Given the description of an element on the screen output the (x, y) to click on. 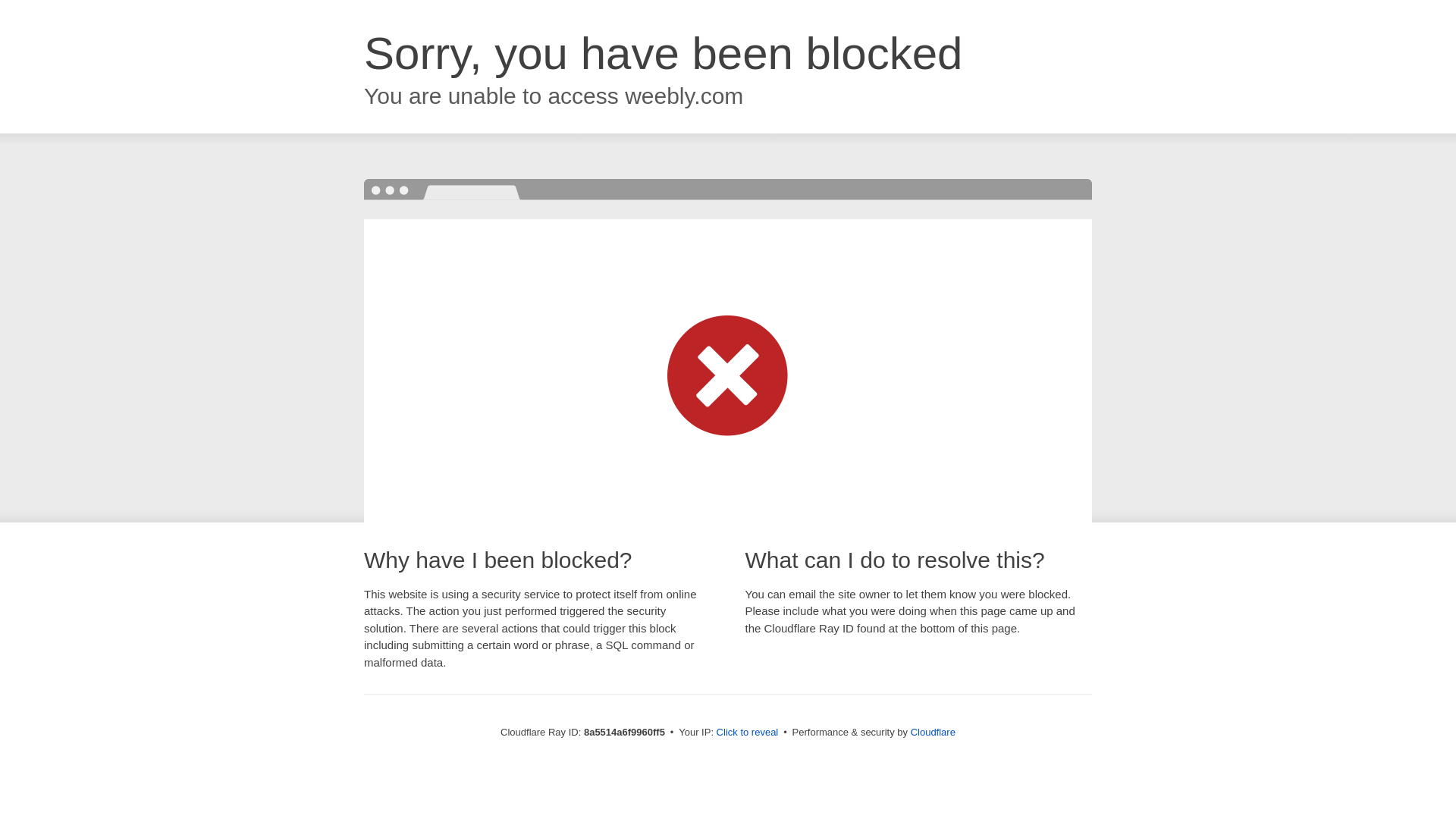
Click to reveal (747, 732)
Cloudflare (933, 731)
